Given the description of an element on the screen output the (x, y) to click on. 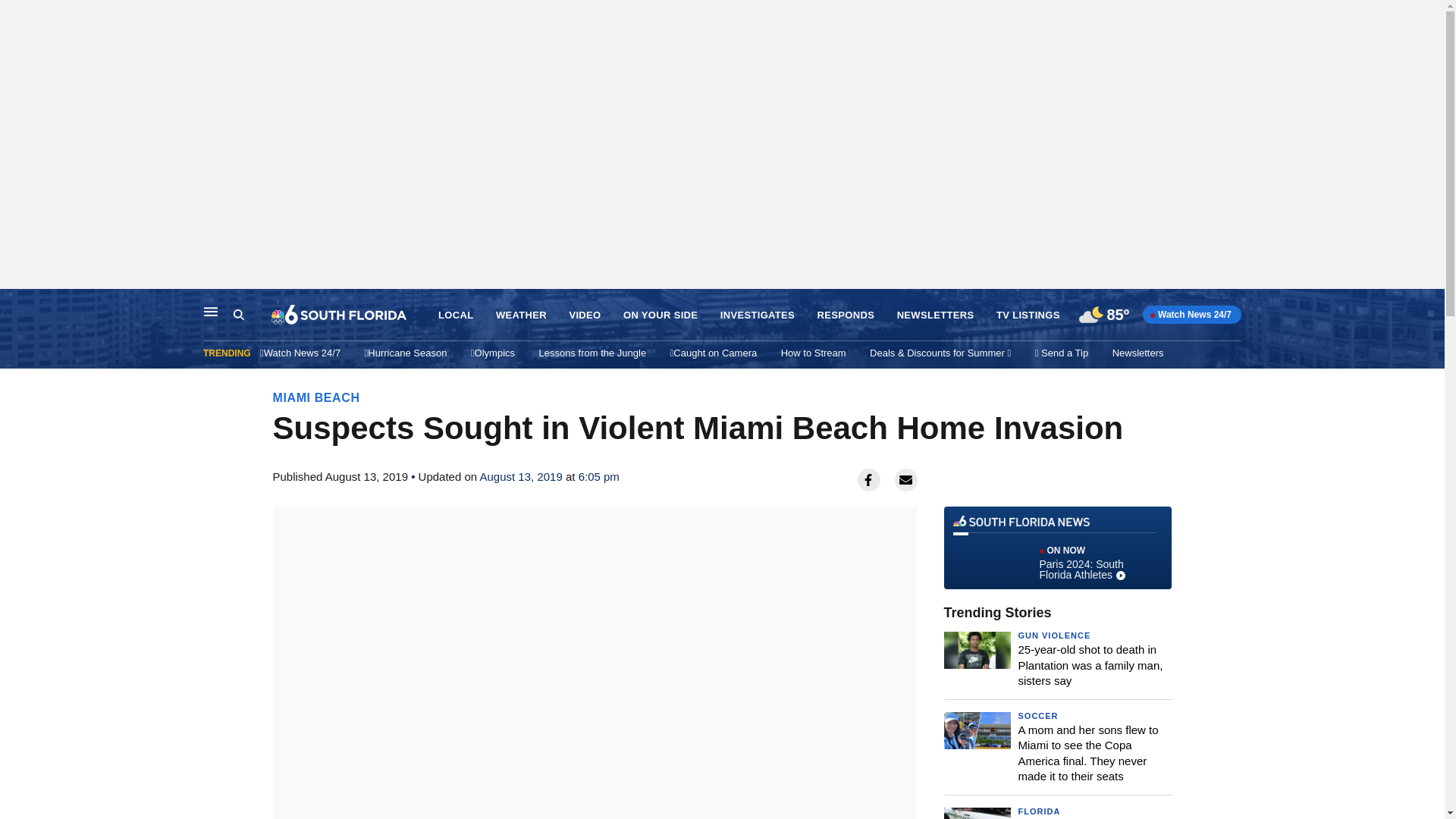
Search (252, 314)
INVESTIGATES (757, 315)
RESPONDS (845, 315)
ON YOUR SIDE (660, 315)
Lessons from the Jungle (592, 352)
Skip to content (16, 304)
VIDEO (584, 315)
Main Navigation (210, 311)
WEATHER (521, 315)
Newsletters (1137, 352)
SOCCER (1037, 715)
NEWSLETTERS (935, 315)
How to Stream (1056, 547)
LOCAL (812, 352)
